Given the description of an element on the screen output the (x, y) to click on. 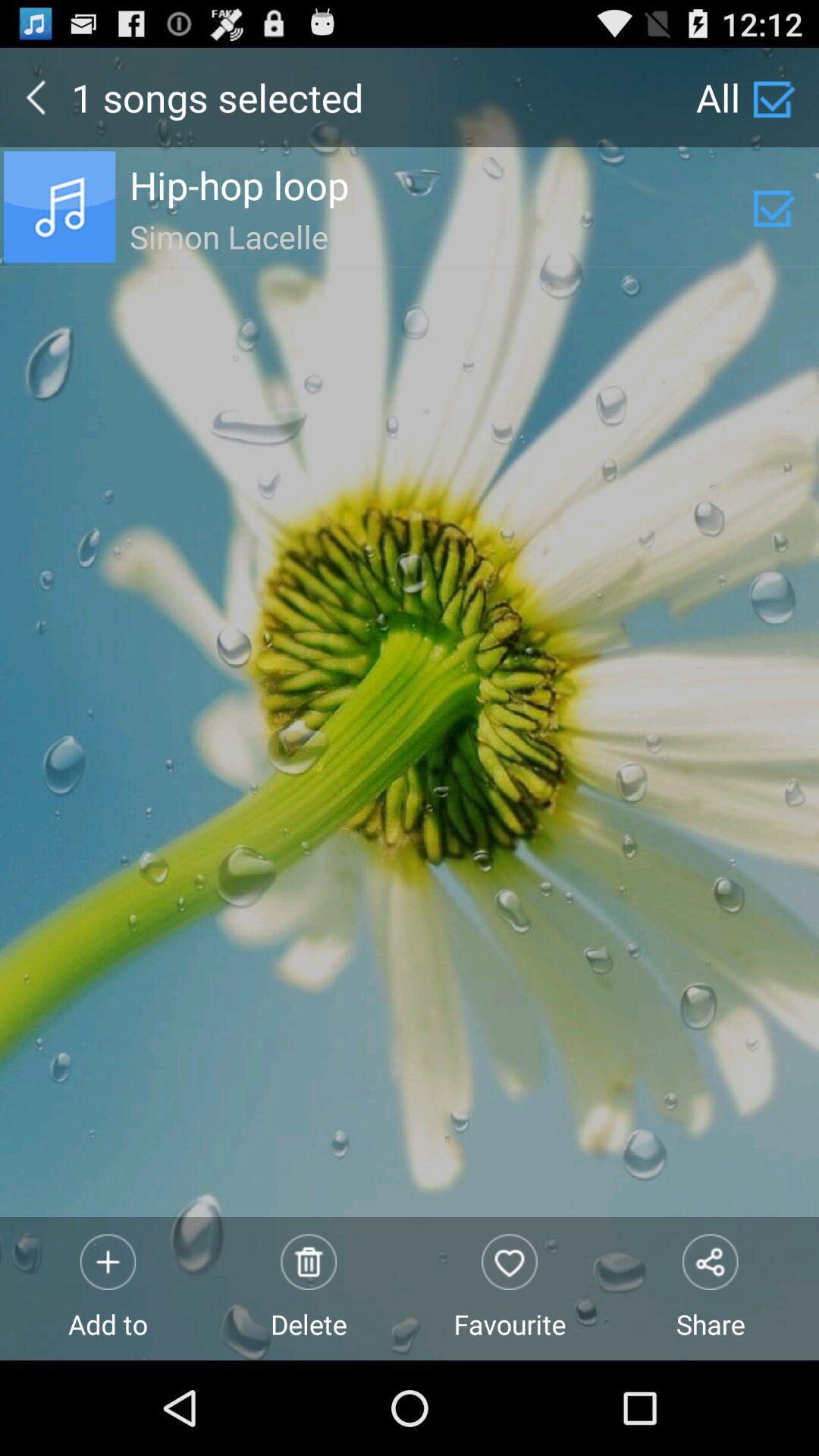
press the item above the add to (440, 234)
